Given the description of an element on the screen output the (x, y) to click on. 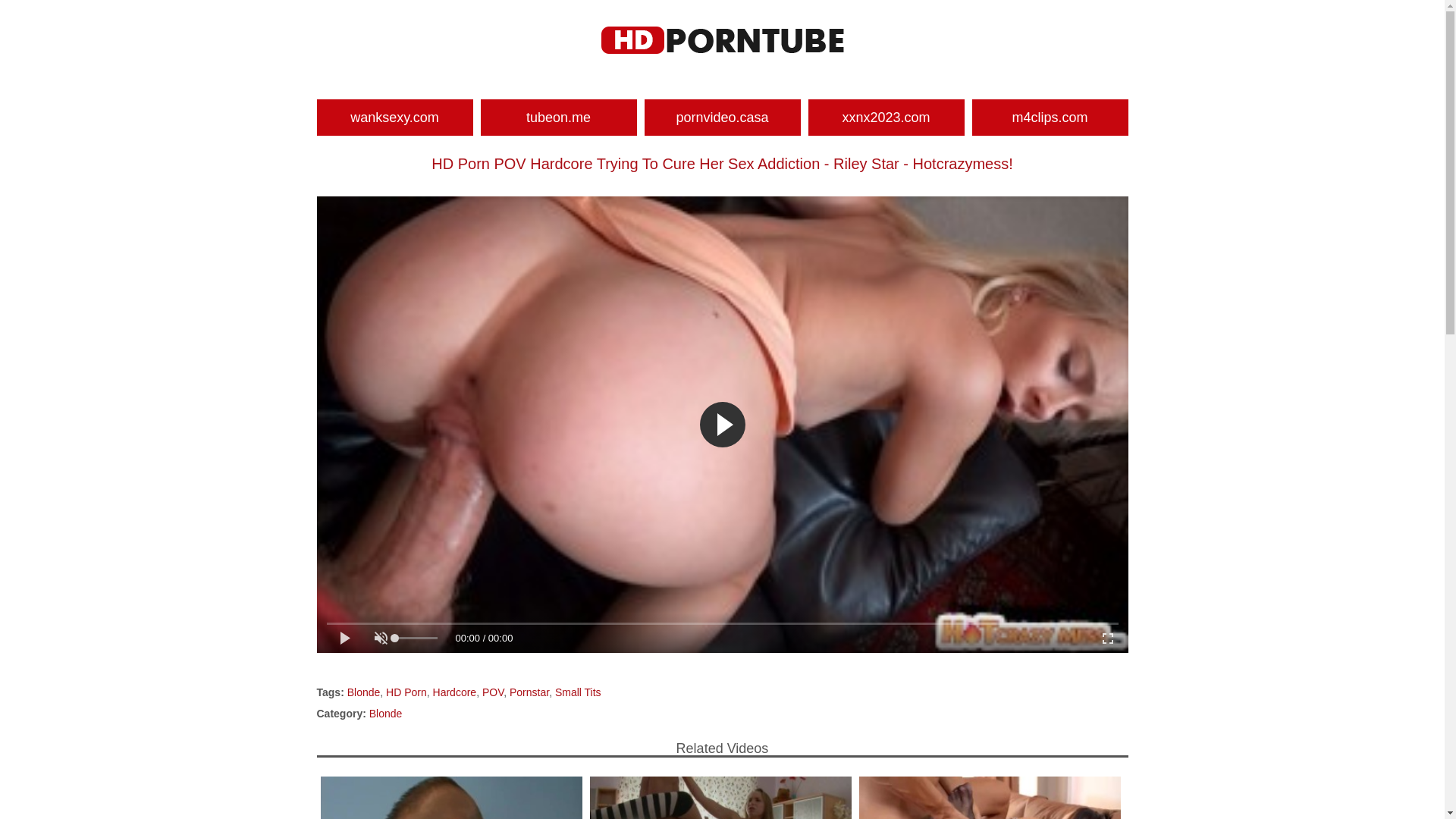
Blonde Element type: text (363, 692)
pornvideo.casa Element type: text (722, 117)
POV Element type: text (492, 692)
tubeon.me Element type: text (558, 117)
Free Tube Porn, HD Porn Tube, Online HD Porn Element type: hover (721, 39)
Blonde Element type: text (385, 713)
wanksexy.com Element type: text (394, 117)
Hardcore Element type: text (454, 692)
Small Tits Element type: text (578, 692)
m4clips.com Element type: text (1050, 117)
Pornstar Element type: text (529, 692)
HD Porn Element type: text (405, 692)
xxnx2023.com Element type: text (886, 117)
